Given the description of an element on the screen output the (x, y) to click on. 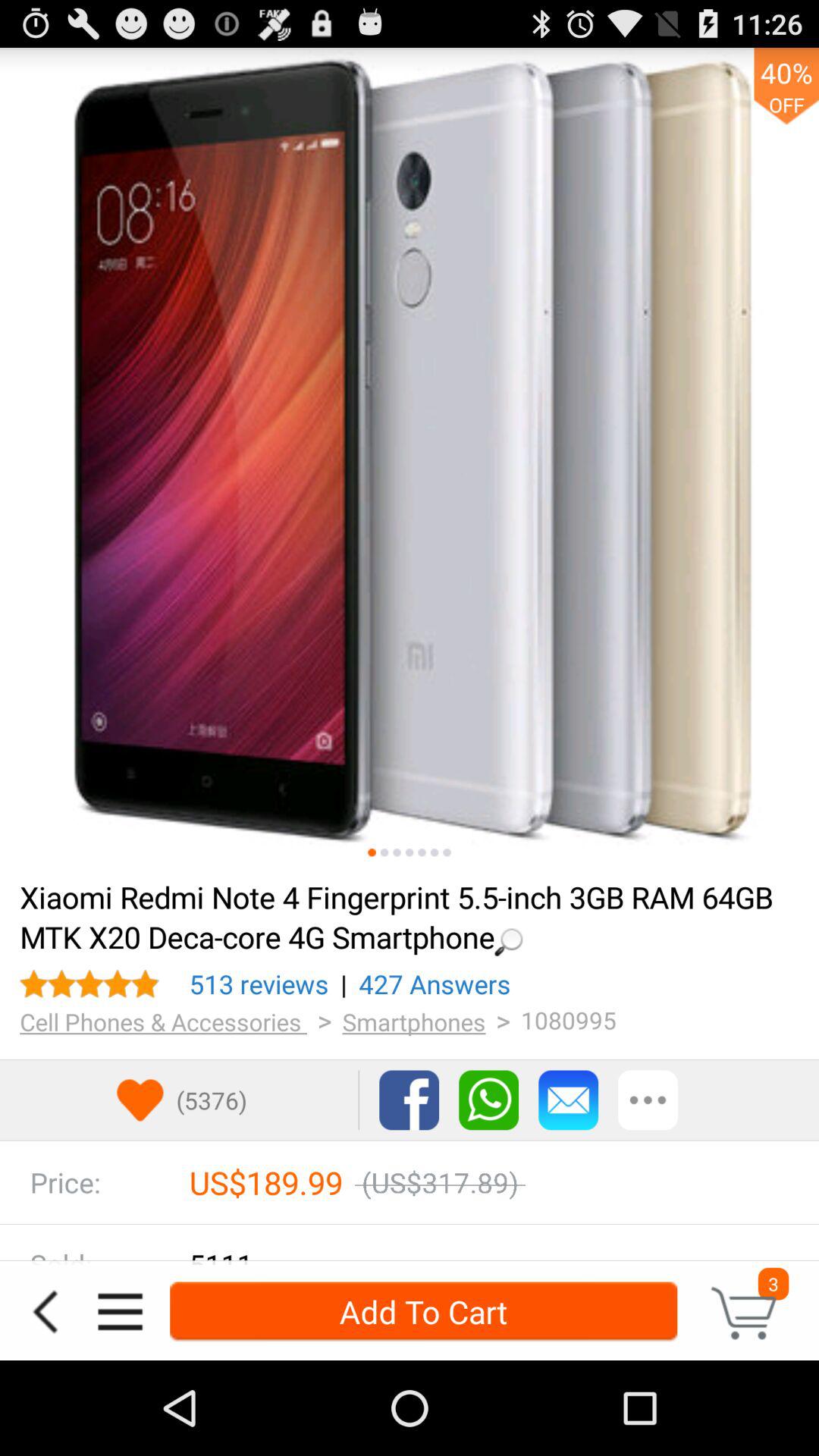
swipe for next photo (384, 852)
